Given the description of an element on the screen output the (x, y) to click on. 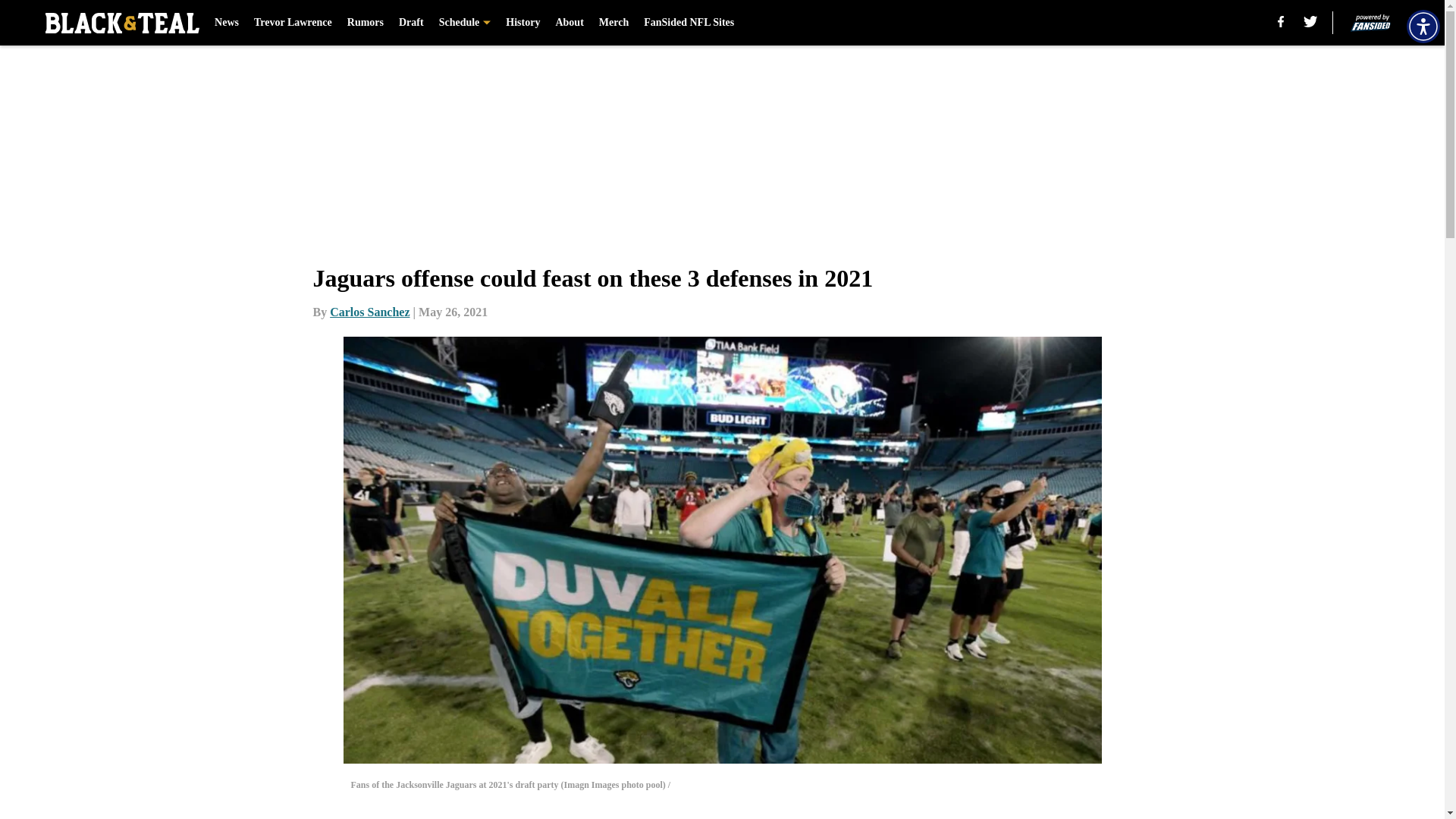
Rumors (365, 22)
Draft (410, 22)
About (568, 22)
Merch (613, 22)
History (522, 22)
FanSided NFL Sites (688, 22)
Carlos Sanchez (369, 311)
Accessibility Menu (1422, 26)
Trevor Lawrence (292, 22)
News (226, 22)
